Given the description of an element on the screen output the (x, y) to click on. 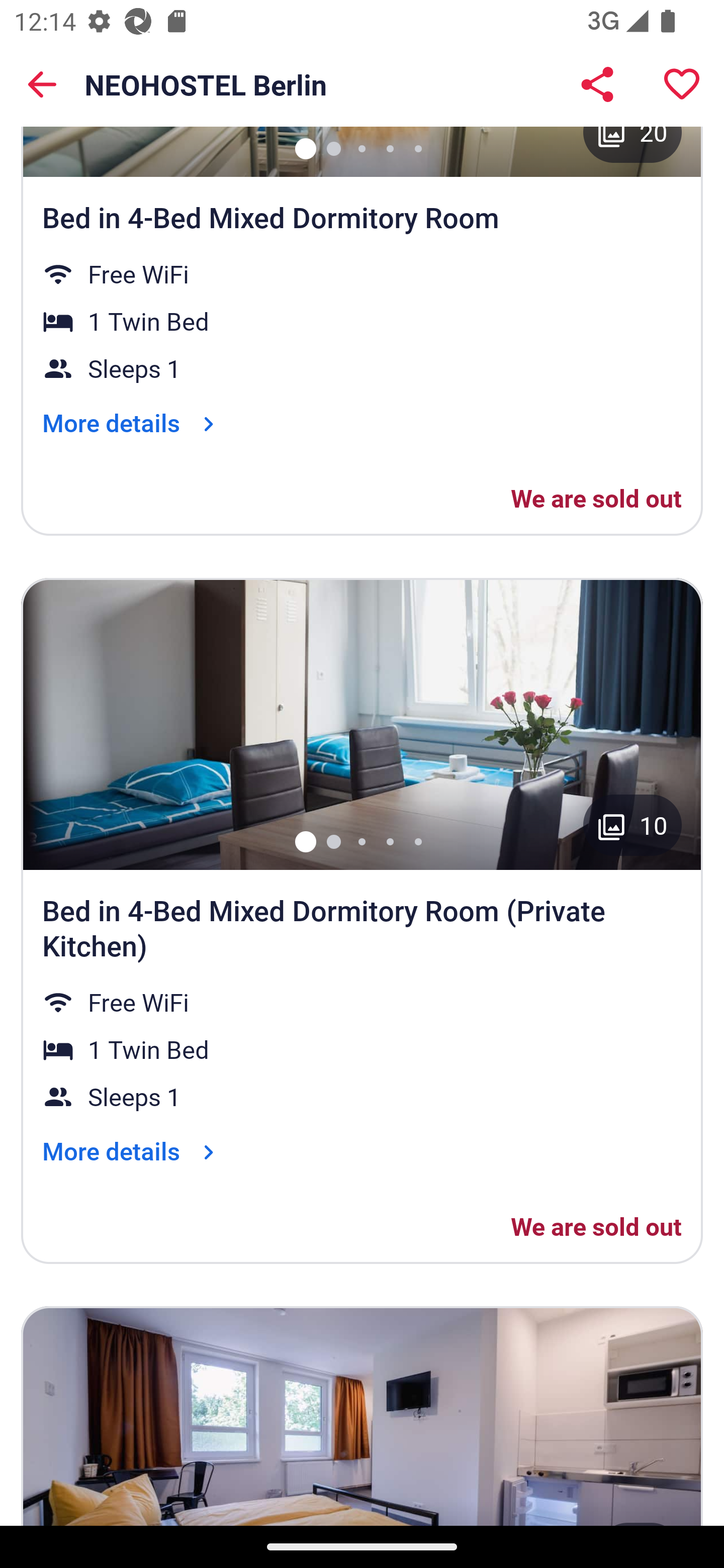
Free WiFi, bed sheets (361, 88)
Back (42, 84)
Save property to a trip (681, 84)
Share NEOHOSTEL Berlin (597, 84)
Free WiFi, bed sheets (361, 724)
Gallery button with 10 images (632, 824)
Basic Studio, 1 Queen Bed | Free WiFi, bed sheets (361, 1415)
